Given the description of an element on the screen output the (x, y) to click on. 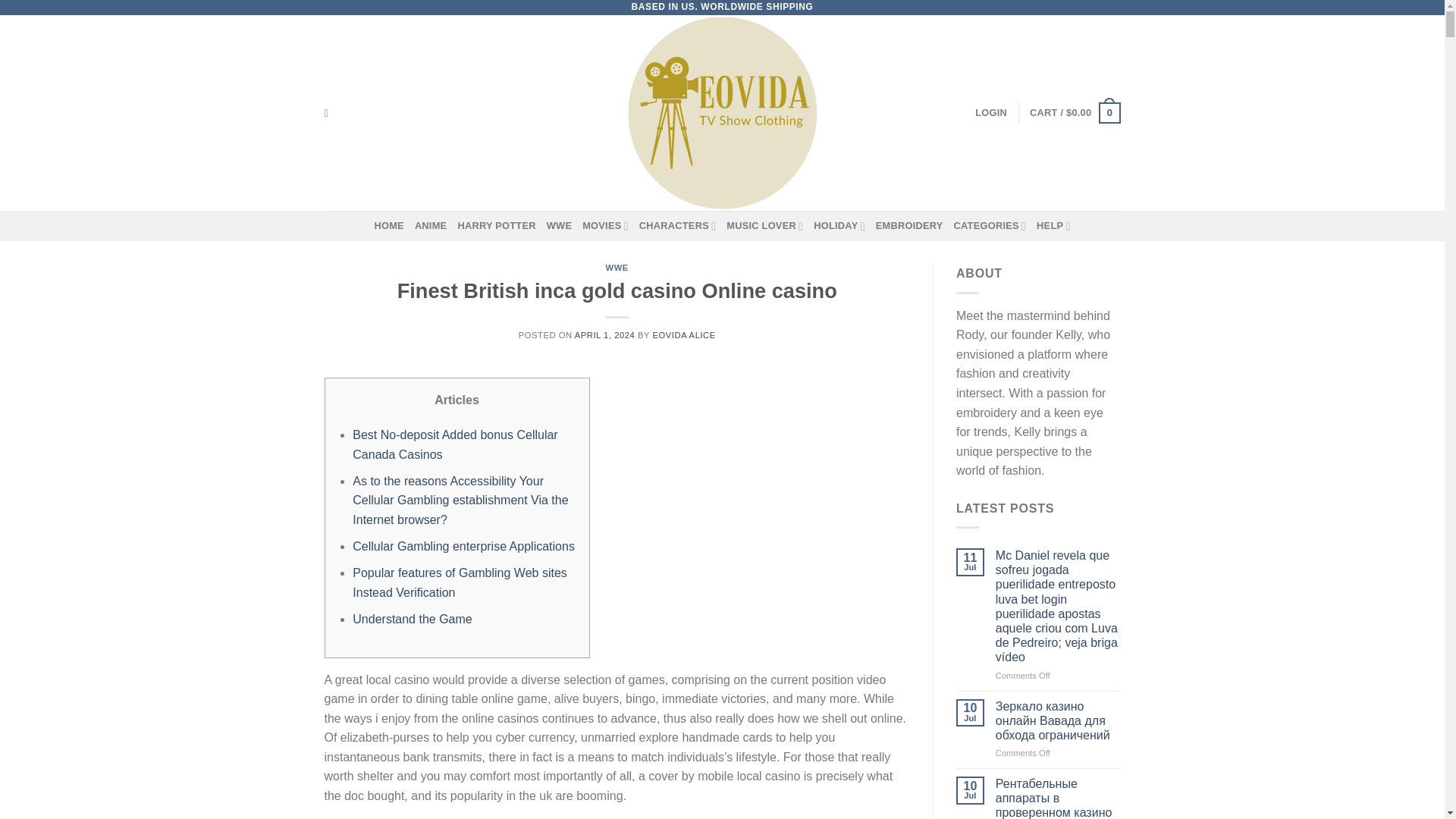
Cart (1074, 112)
HOME (388, 225)
Eovida - TV Show Fashion (722, 112)
MOVIES (605, 225)
LOGIN (991, 112)
HARRY POTTER (496, 225)
ANIME (430, 225)
MUSIC LOVER (764, 225)
HOLIDAY (838, 225)
CHARACTERS (677, 225)
